Given the description of an element on the screen output the (x, y) to click on. 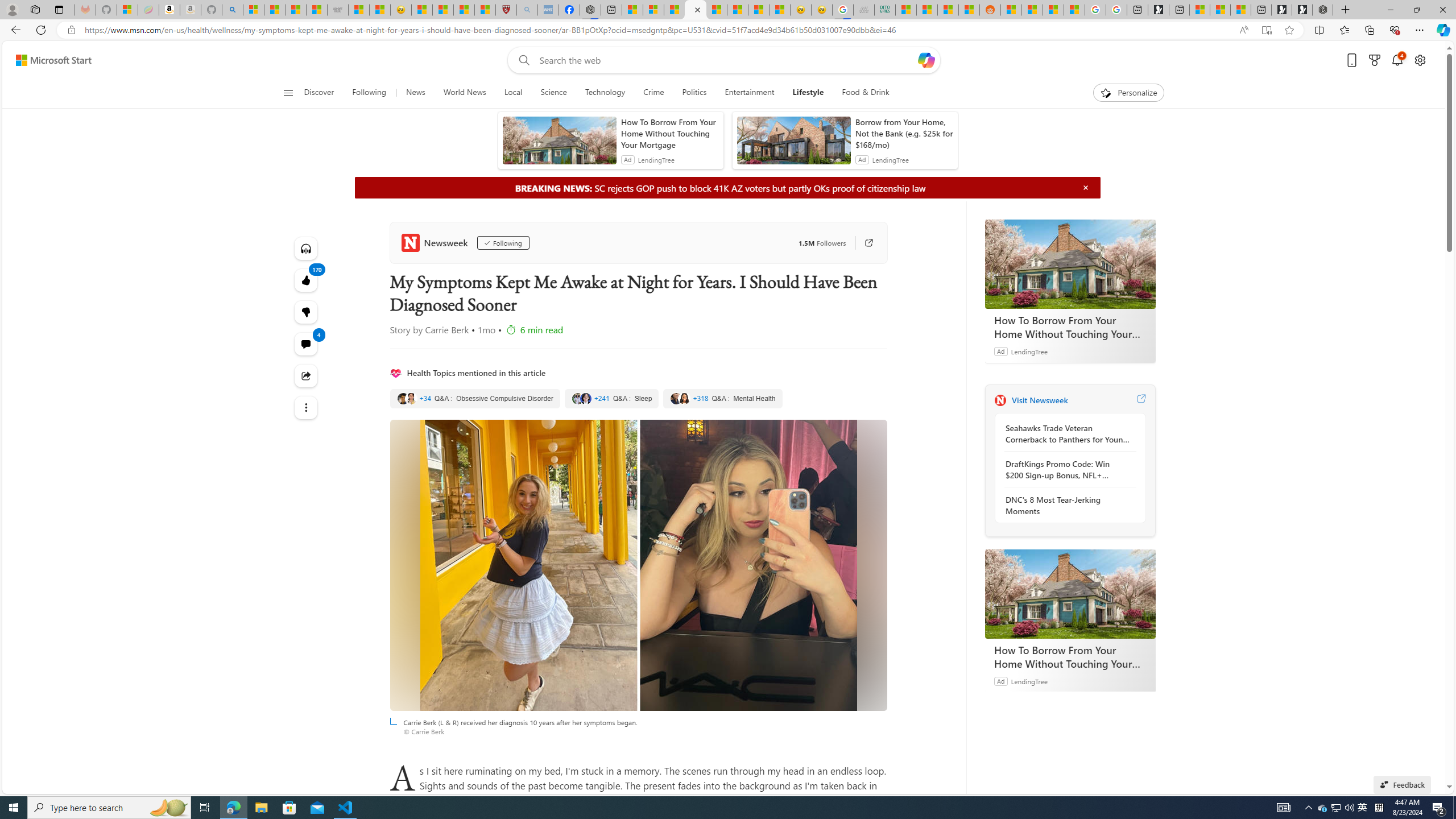
These 3 Stocks Pay You More Than 5% to Own Them (1240, 9)
Newsweek (436, 242)
